Given the description of an element on the screen output the (x, y) to click on. 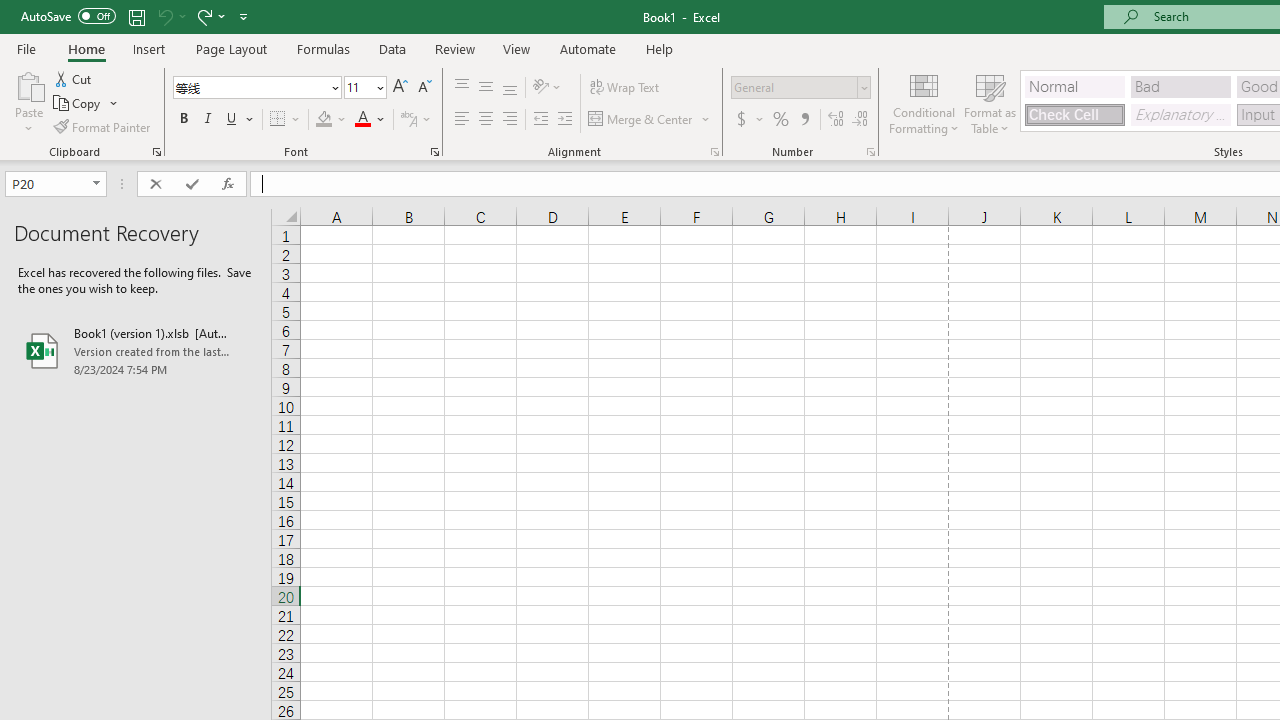
Number Format (794, 87)
Decrease Font Size (424, 87)
Number Format (800, 87)
Check Cell (1074, 114)
Copy (78, 103)
Merge & Center (641, 119)
Bottom Border (278, 119)
Cut (73, 78)
Increase Decimal (836, 119)
Font (250, 87)
Format Cell Number (870, 151)
Top Align (461, 87)
Accounting Number Format (741, 119)
Fill Color RGB(255, 255, 0) (324, 119)
